Given the description of an element on the screen output the (x, y) to click on. 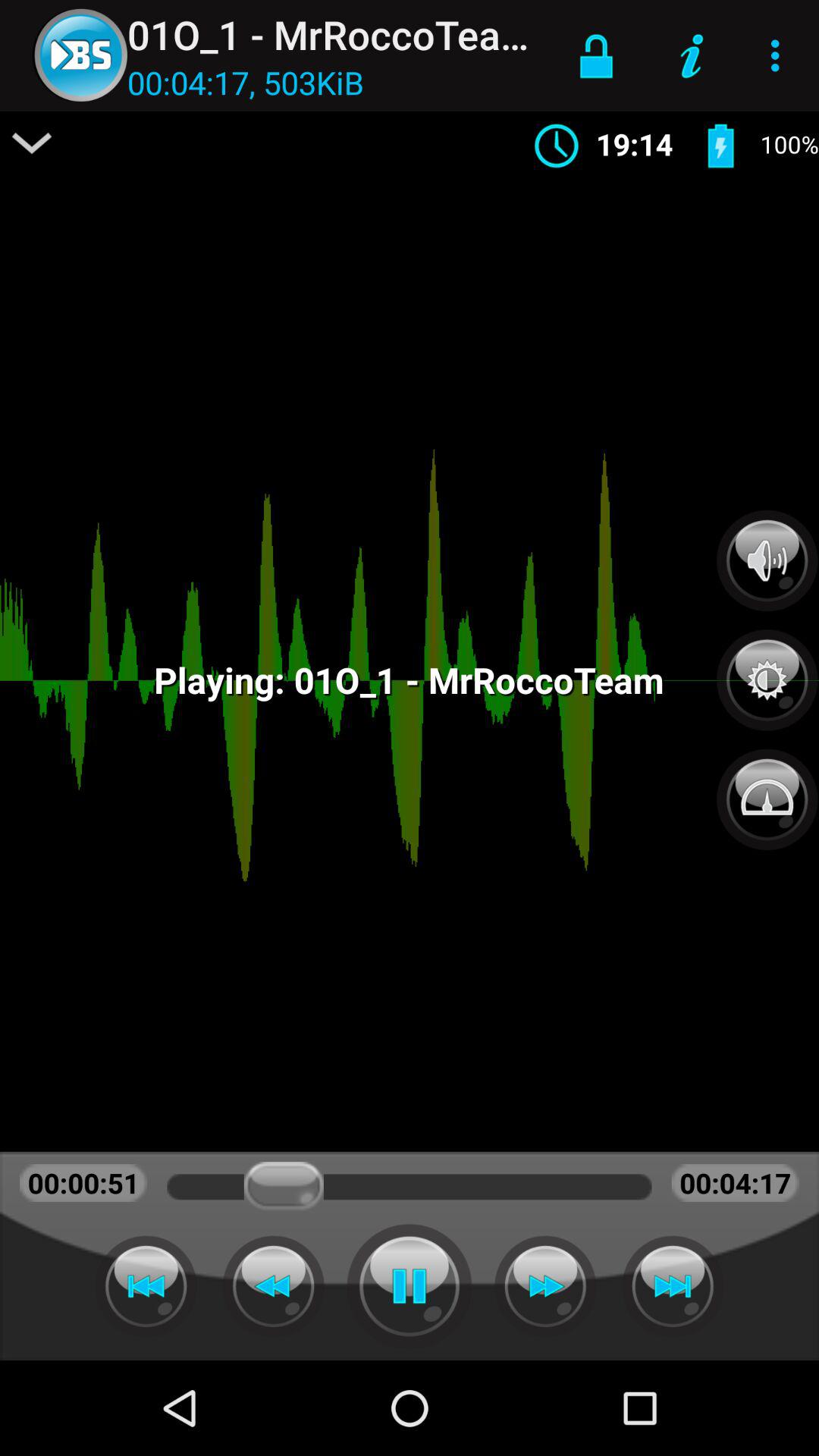
choose the app next to the 00 04 17 (31, 143)
